Given the description of an element on the screen output the (x, y) to click on. 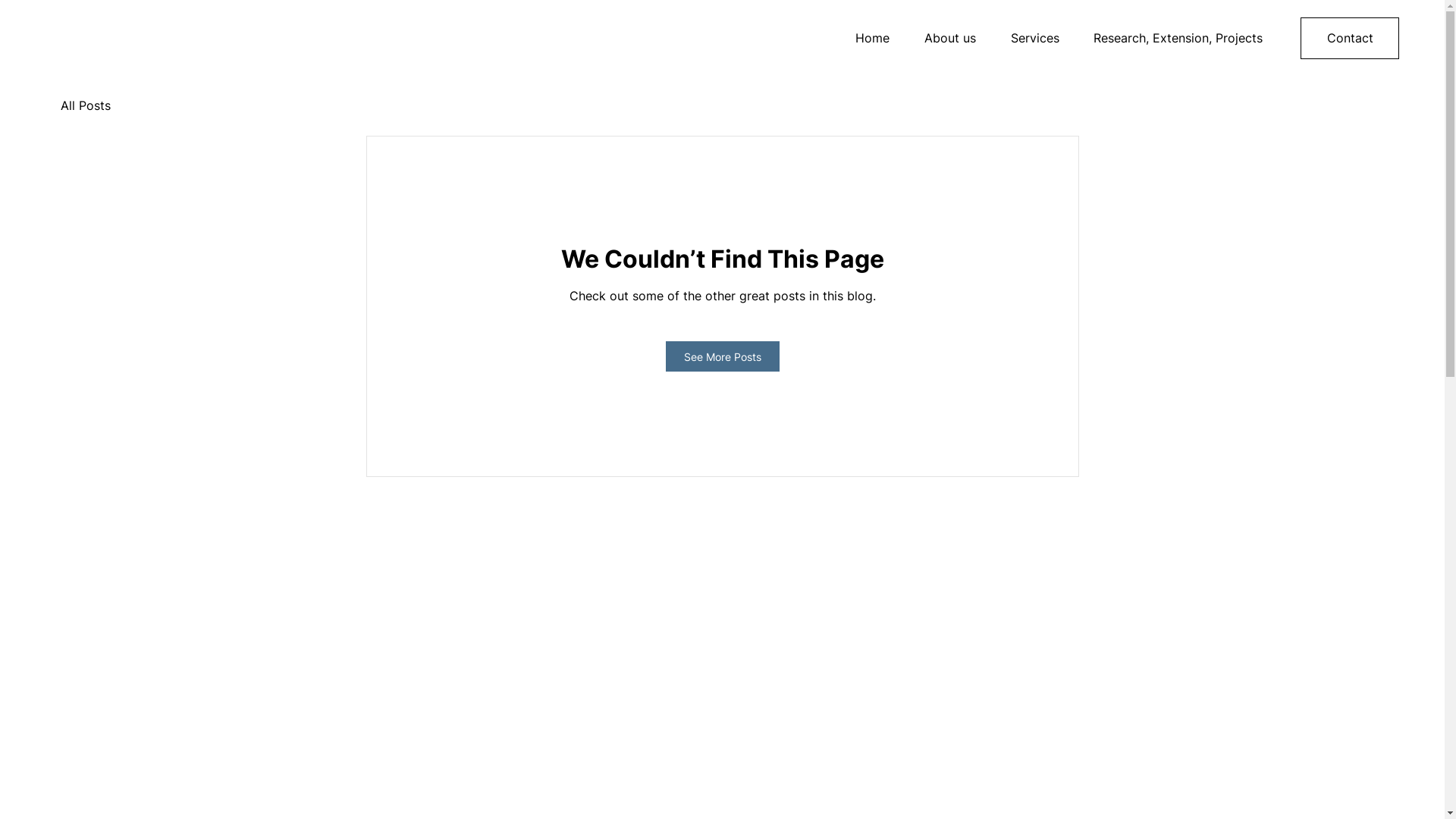
Home Element type: text (865, 37)
All Posts Element type: text (85, 104)
Contact Element type: text (1349, 37)
See More Posts Element type: text (722, 356)
Research, Extension, Projects Element type: text (1172, 37)
Services Element type: text (1028, 37)
About us Element type: text (943, 37)
